Given the description of an element on the screen output the (x, y) to click on. 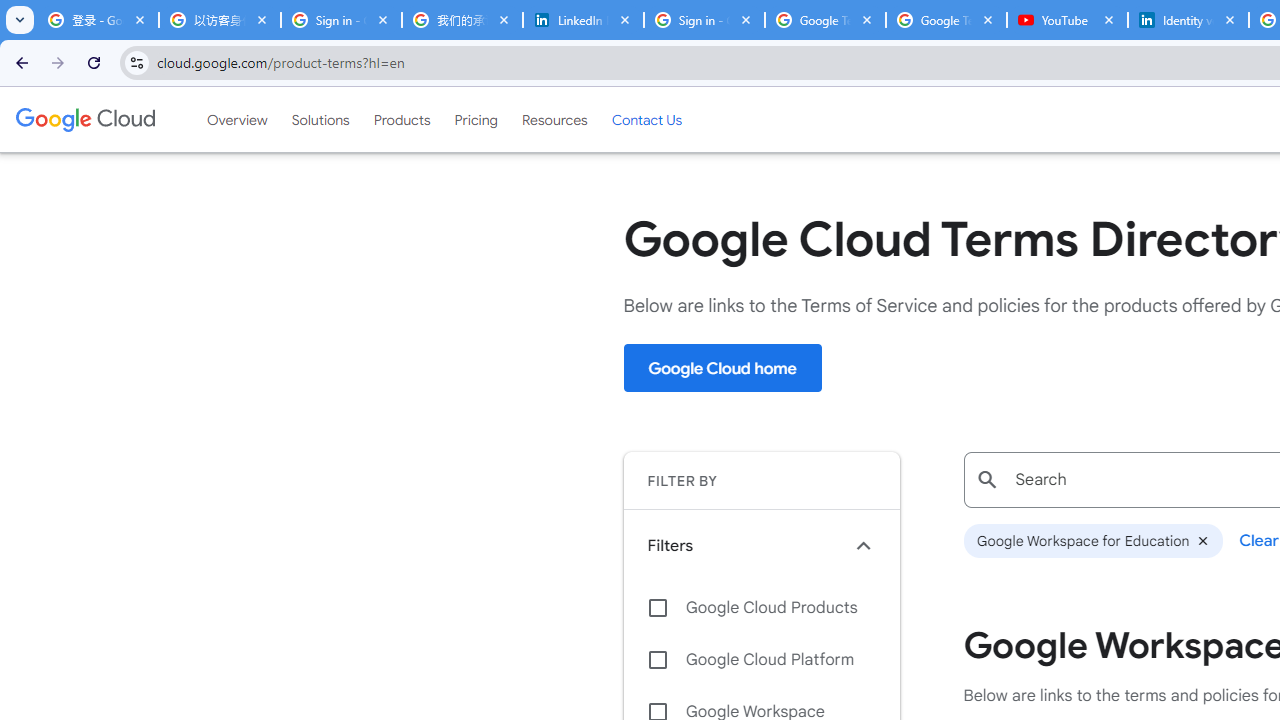
Google Cloud home (722, 367)
Google Cloud (84, 119)
Google Workspace for Education (1092, 541)
Sign in - Google Accounts (704, 20)
Pricing (476, 119)
Resources (553, 119)
Filters keyboard_arrow_up (761, 545)
Solutions (320, 119)
